Given the description of an element on the screen output the (x, y) to click on. 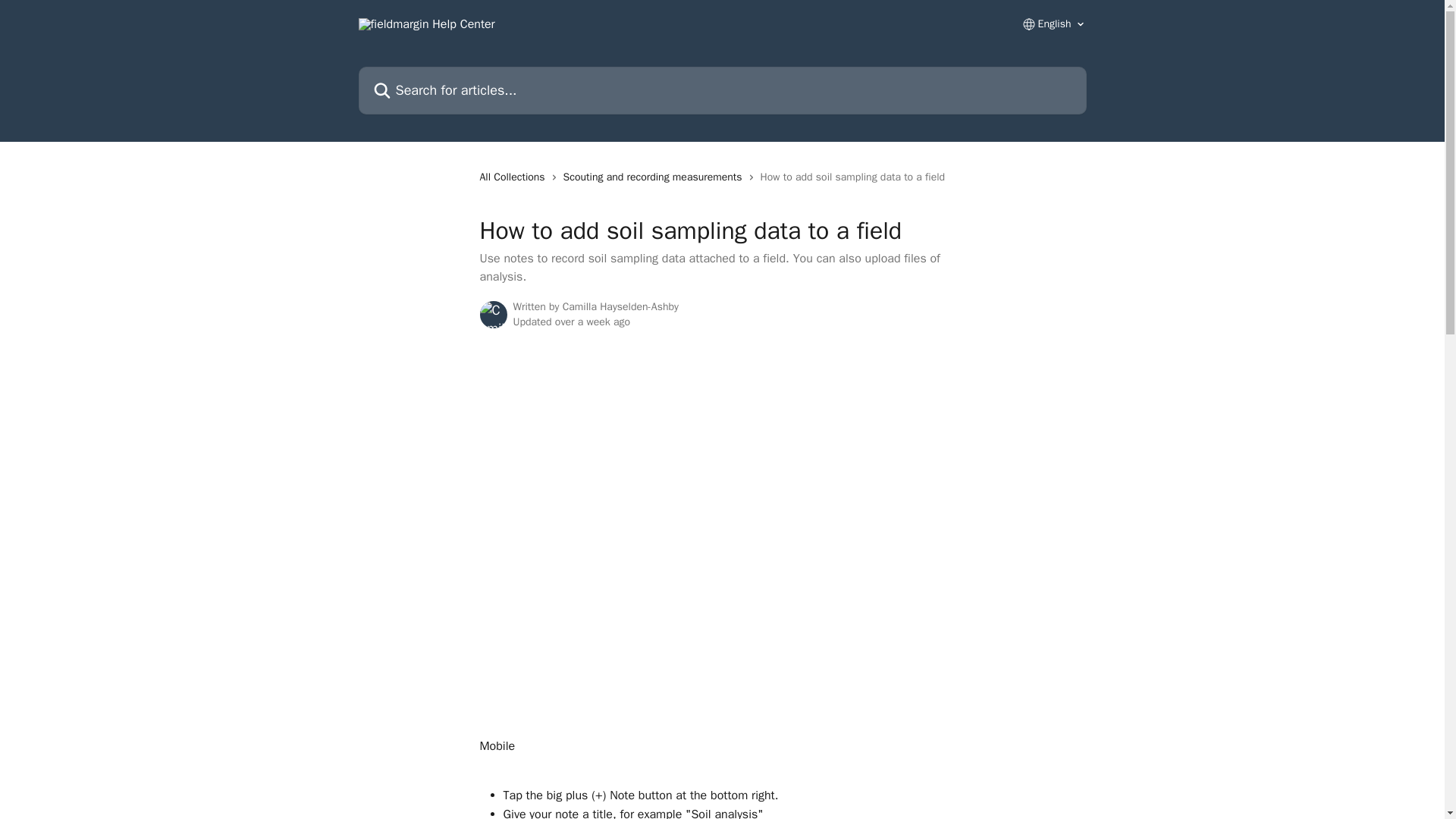
Scouting and recording measurements (655, 176)
All Collections (514, 176)
